Given the description of an element on the screen output the (x, y) to click on. 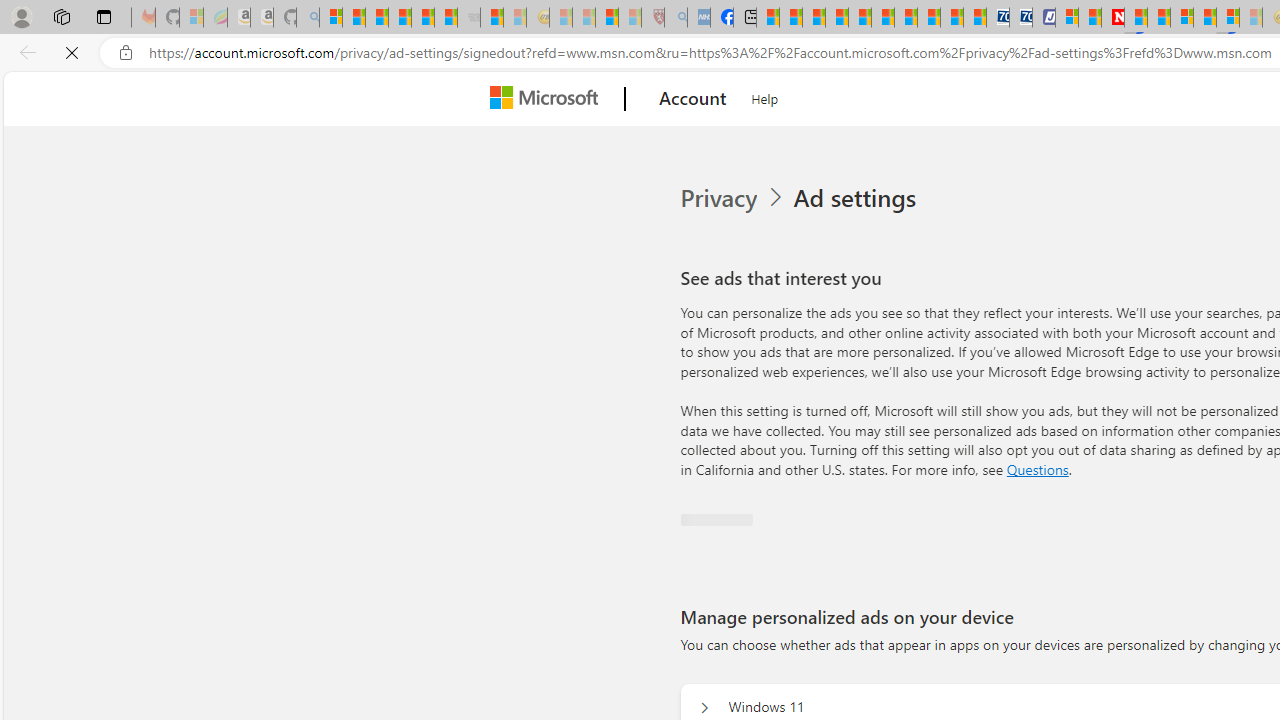
Go to Questions section (1037, 468)
